Given the description of an element on the screen output the (x, y) to click on. 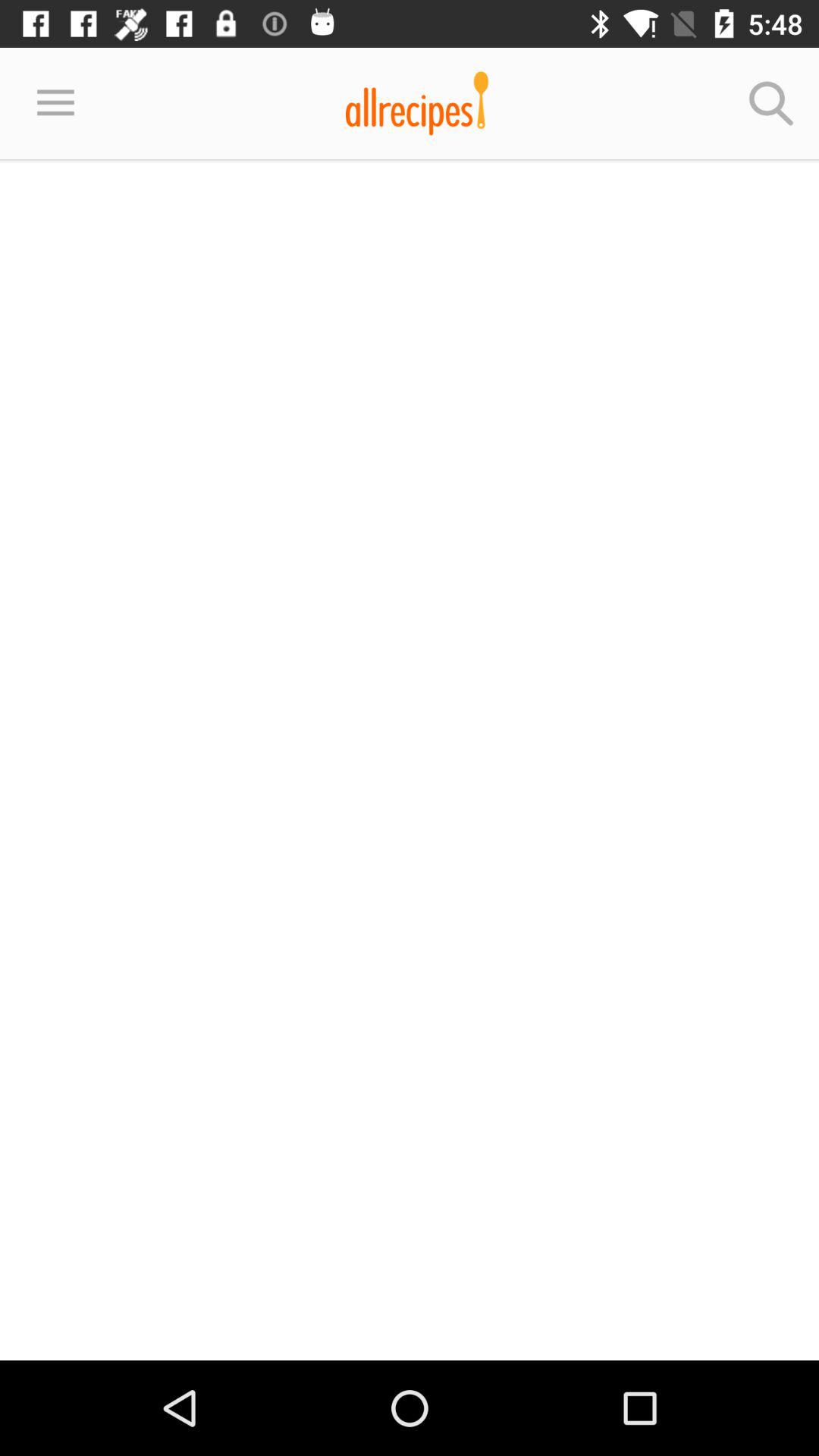
open the item at the top left corner (55, 103)
